Given the description of an element on the screen output the (x, y) to click on. 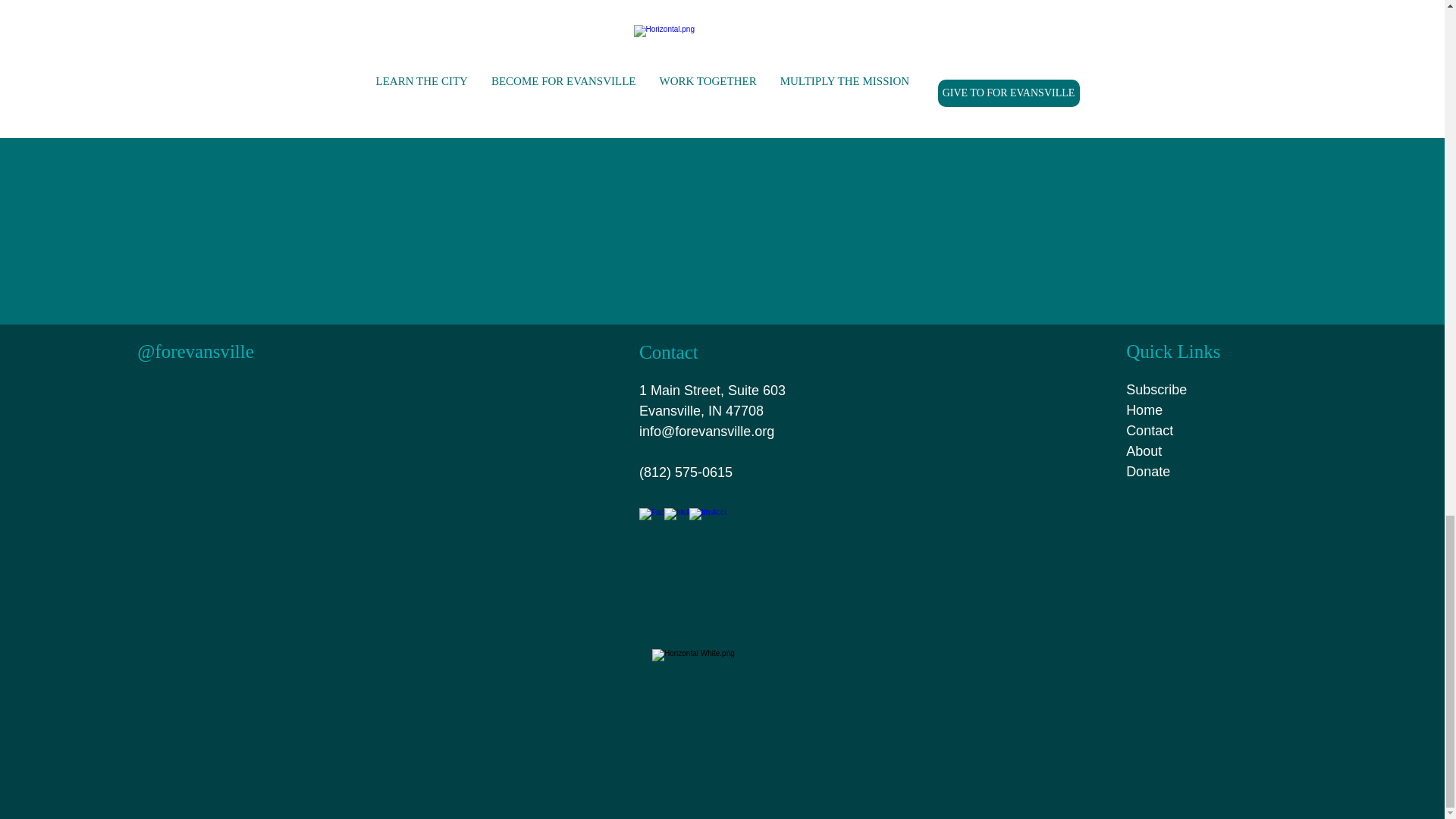
Contact (668, 352)
Subscribe (1155, 389)
Contact (1149, 430)
Home (1143, 409)
